Given the description of an element on the screen output the (x, y) to click on. 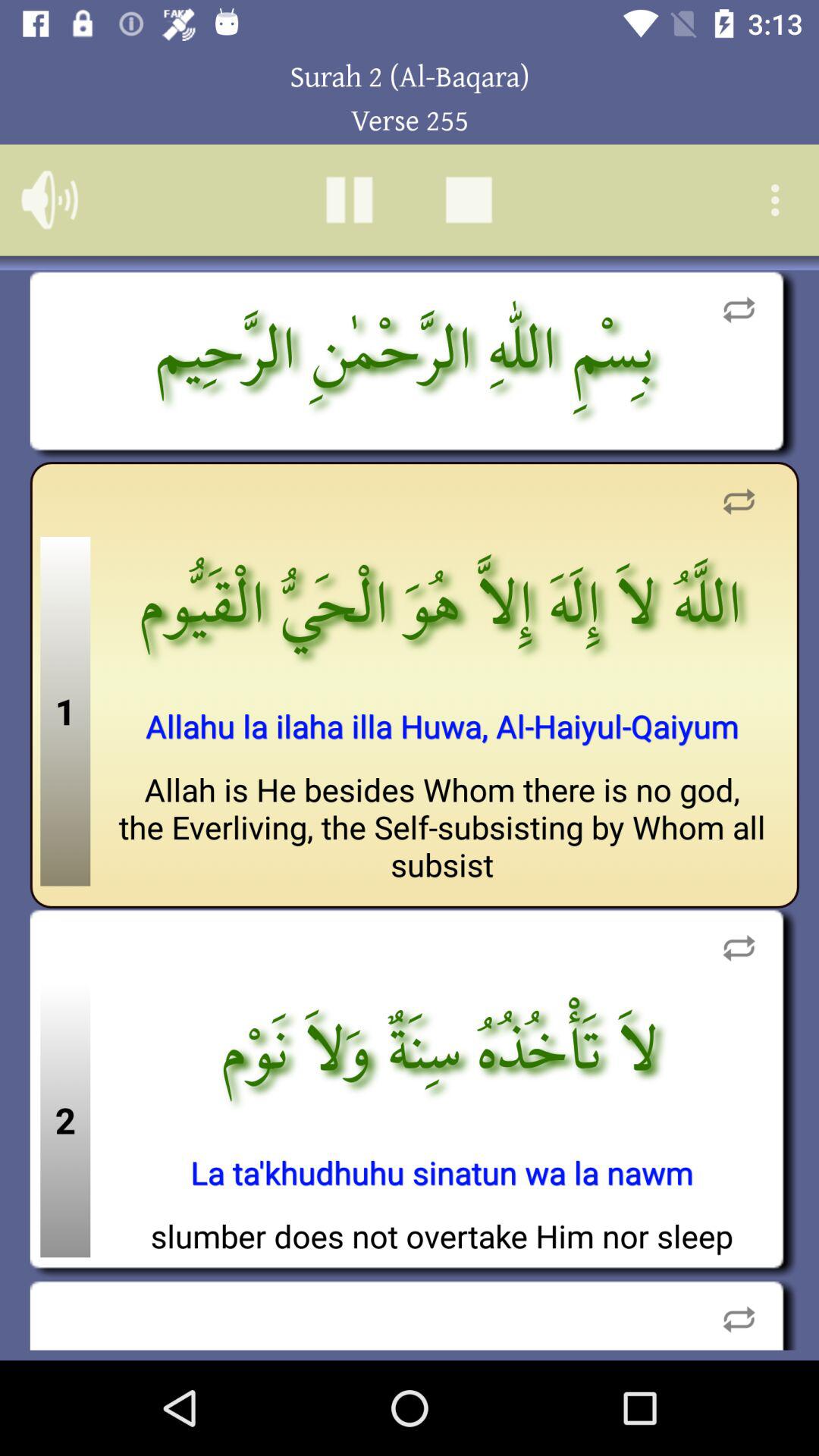
ayat al kursi (349, 199)
